Given the description of an element on the screen output the (x, y) to click on. 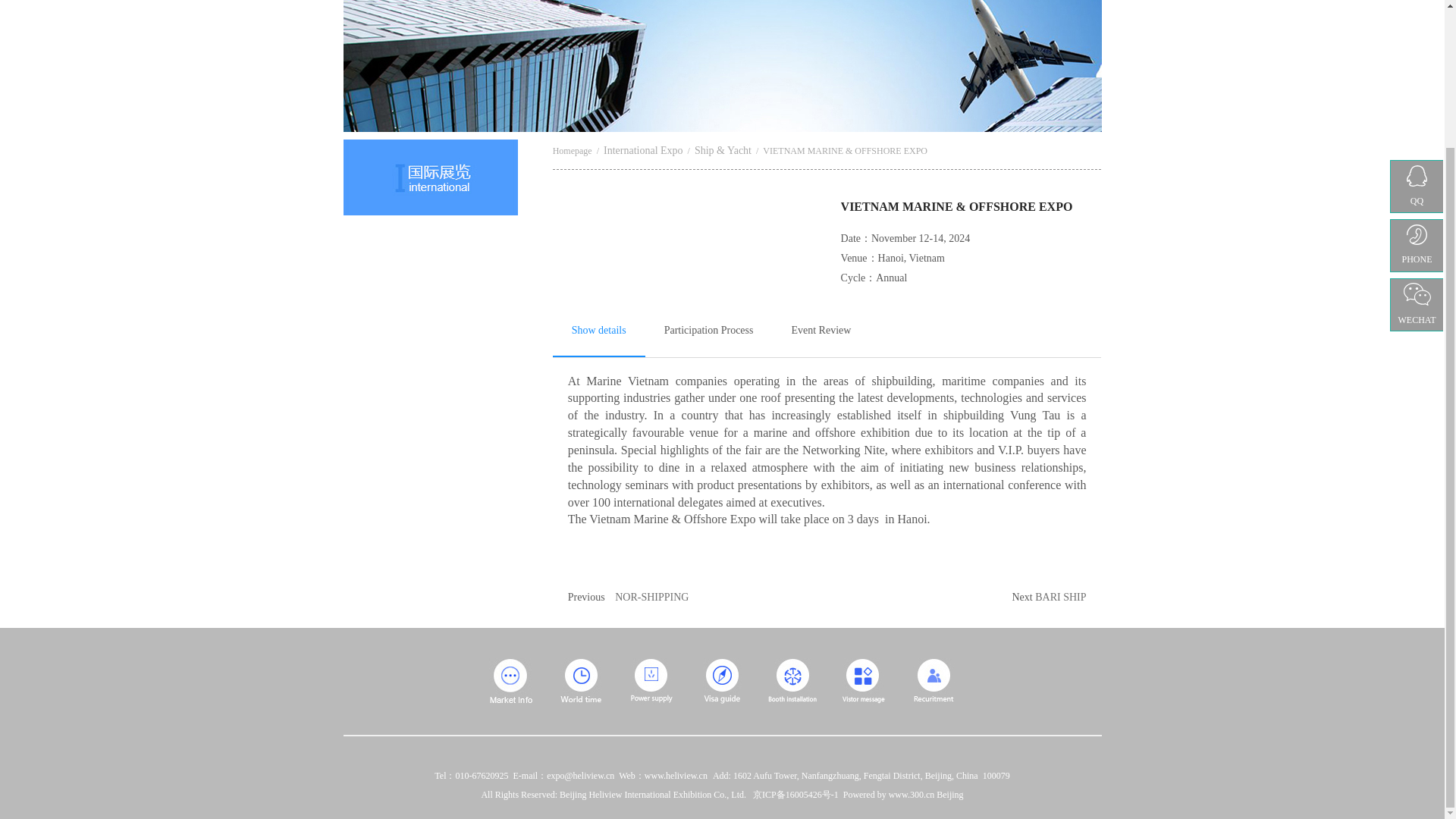
World time (580, 681)
PHONE (1416, 75)
Recuritment (933, 681)
Feedback (863, 681)
Power socket (651, 681)
QQ (1416, 21)
Market Info  (510, 681)
Booth Installation (792, 681)
